Given the description of an element on the screen output the (x, y) to click on. 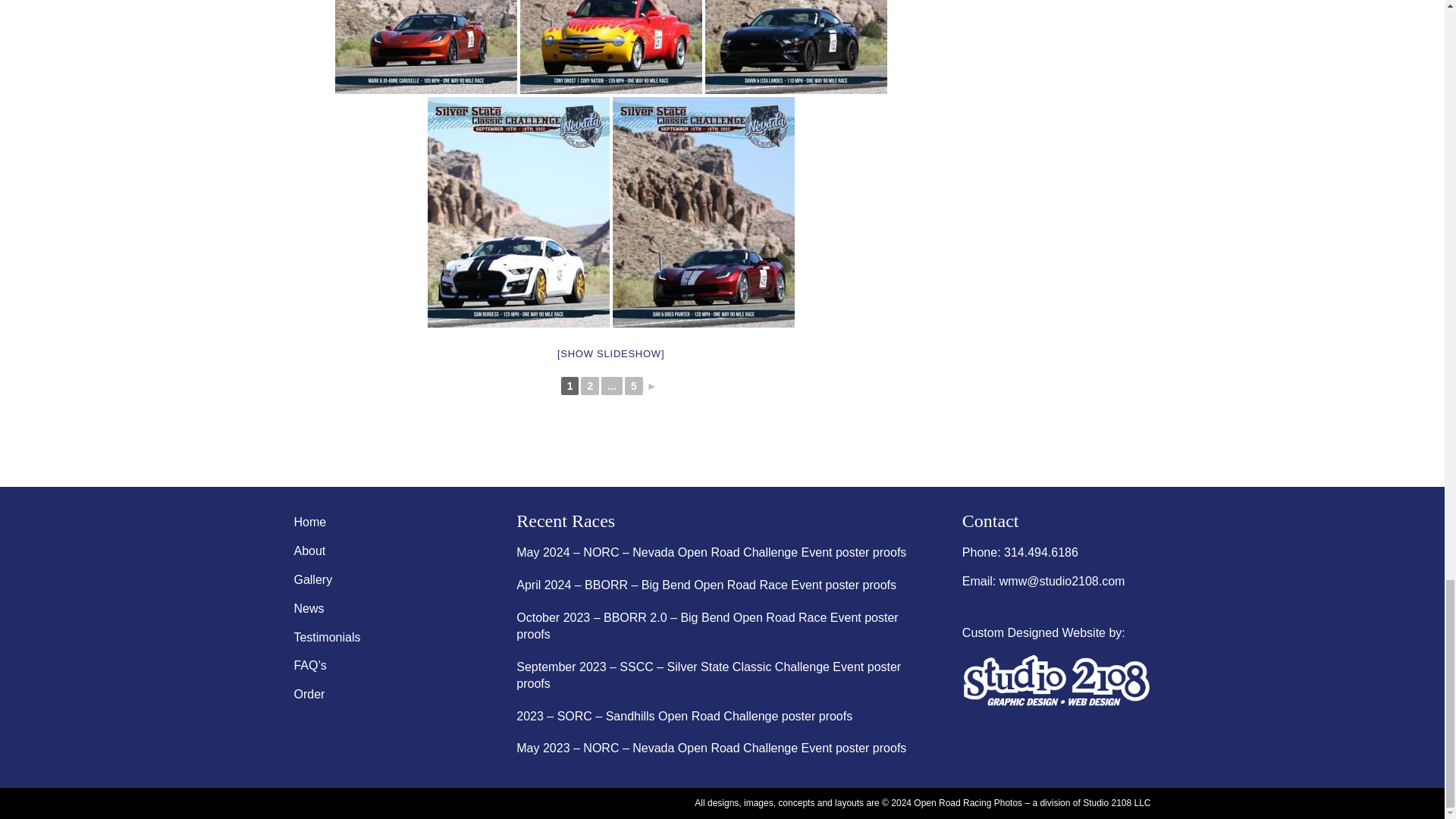
5 (633, 385)
2 (589, 385)
